Given the description of an element on the screen output the (x, y) to click on. 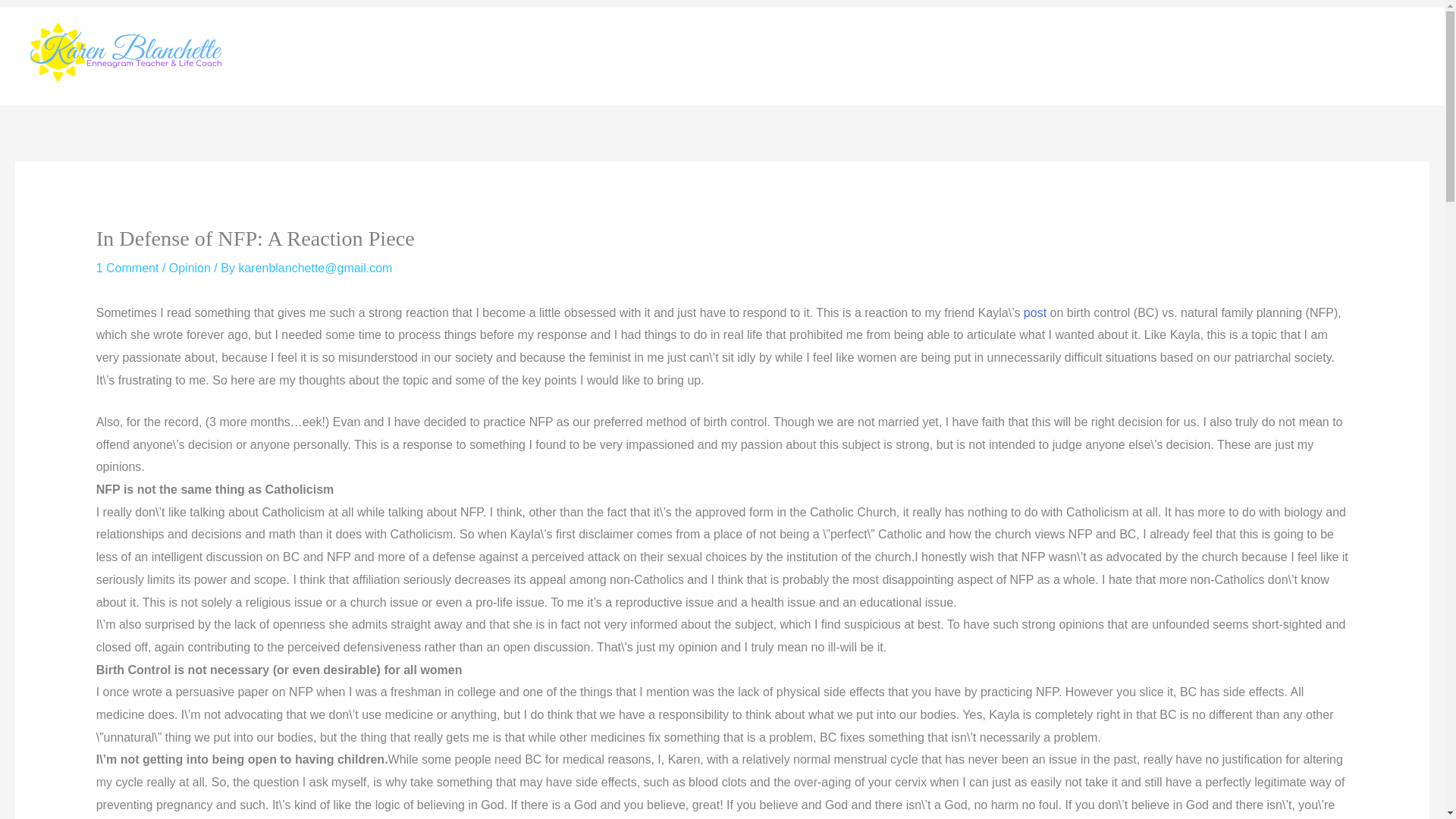
CONTACT (1260, 55)
1 Comment (127, 267)
Opinion (189, 267)
HOME (1123, 55)
PERSONAL BLOG (1366, 55)
post (1034, 312)
ABOUT (1187, 55)
